Given the description of an element on the screen output the (x, y) to click on. 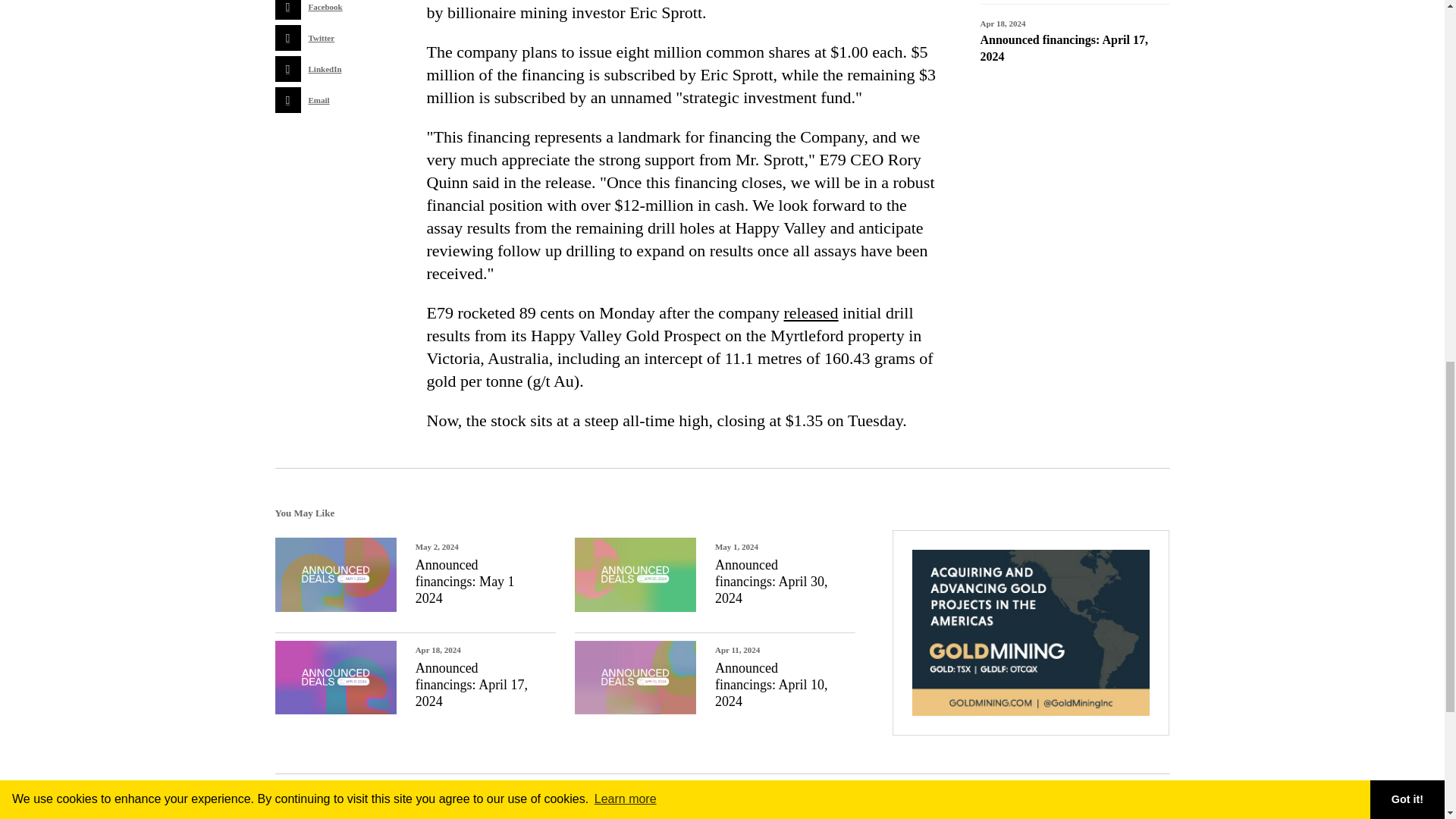
Announced financings: April 10, 2024 (770, 684)
Announced financings: April 17, 2024 (470, 684)
Facebook (316, 9)
LinkedIn (316, 68)
Announced financings: April 30, 2024 (770, 581)
Announced financings: May 1 2024 (464, 581)
released (811, 312)
Email (316, 99)
Announced financings: April 17, 2024 (1063, 48)
Twitter (316, 37)
